Given the description of an element on the screen output the (x, y) to click on. 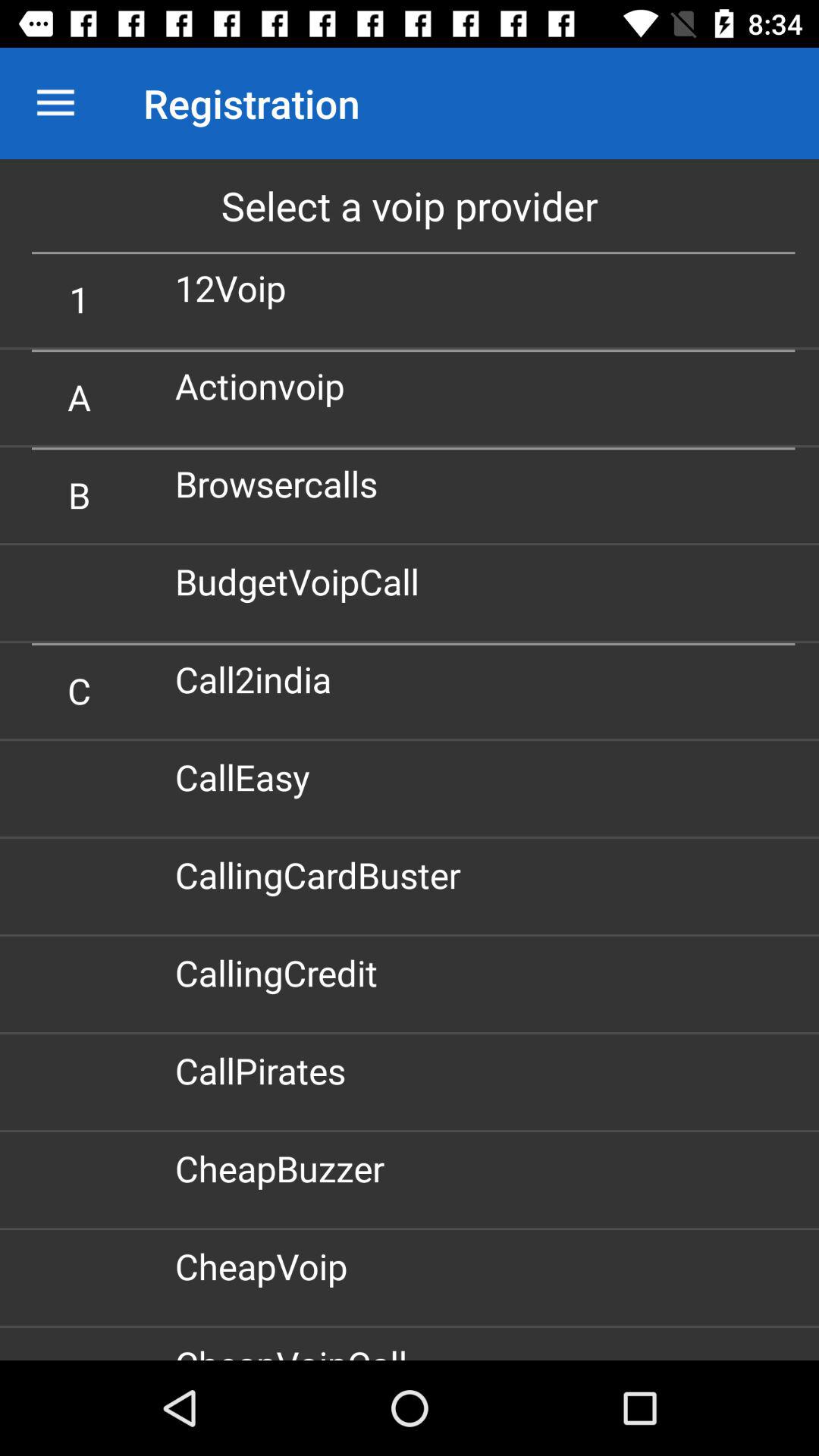
launch the icon below cheapvoip icon (297, 1349)
